Given the description of an element on the screen output the (x, y) to click on. 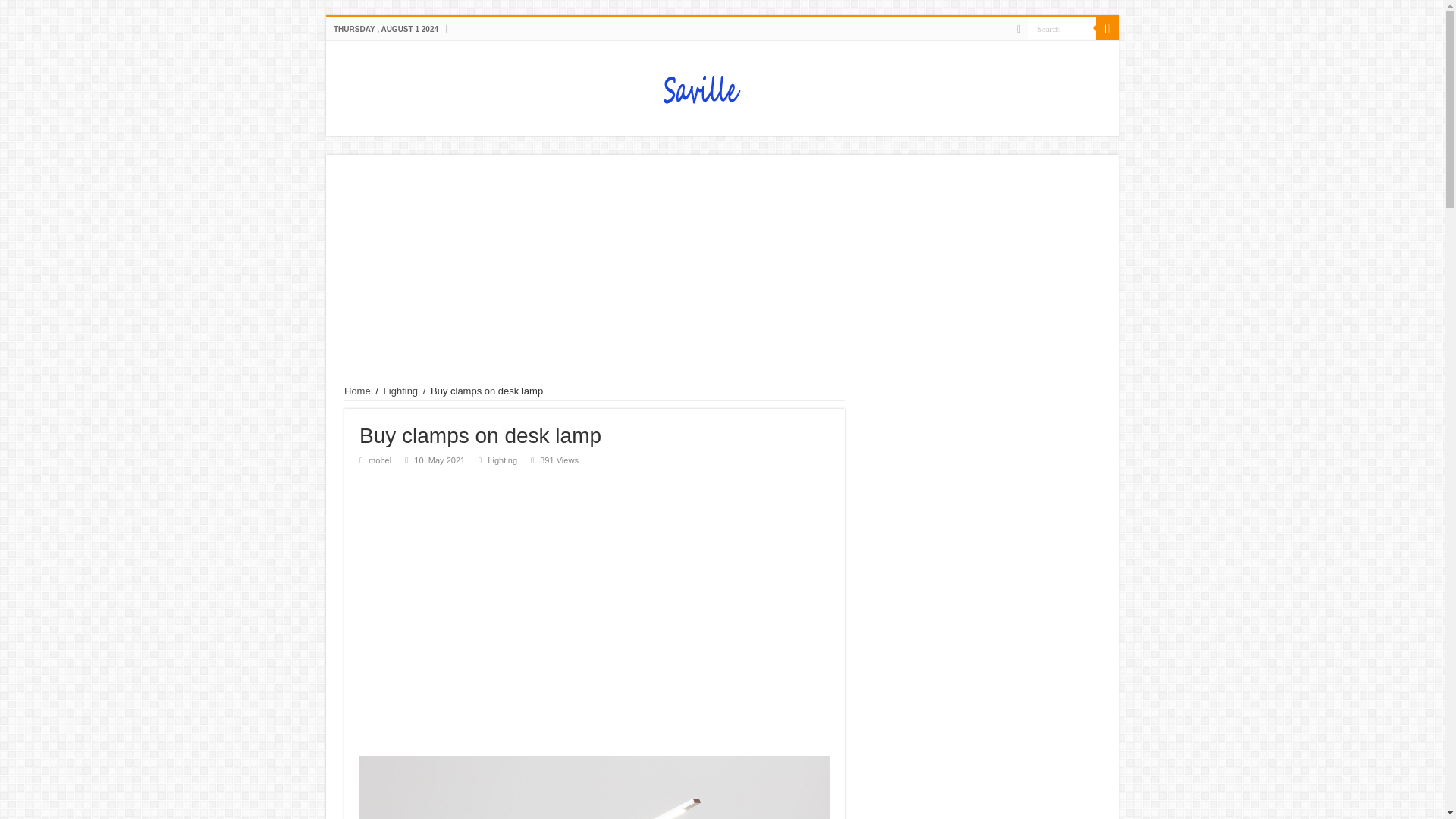
Lighting (501, 460)
Home (357, 390)
mobel (379, 460)
Search (1061, 28)
Buy clamps on desk lamp (594, 787)
Search (1061, 28)
savillefurniture (722, 85)
Search (1107, 28)
Lighting (401, 390)
Search (1061, 28)
